Given the description of an element on the screen output the (x, y) to click on. 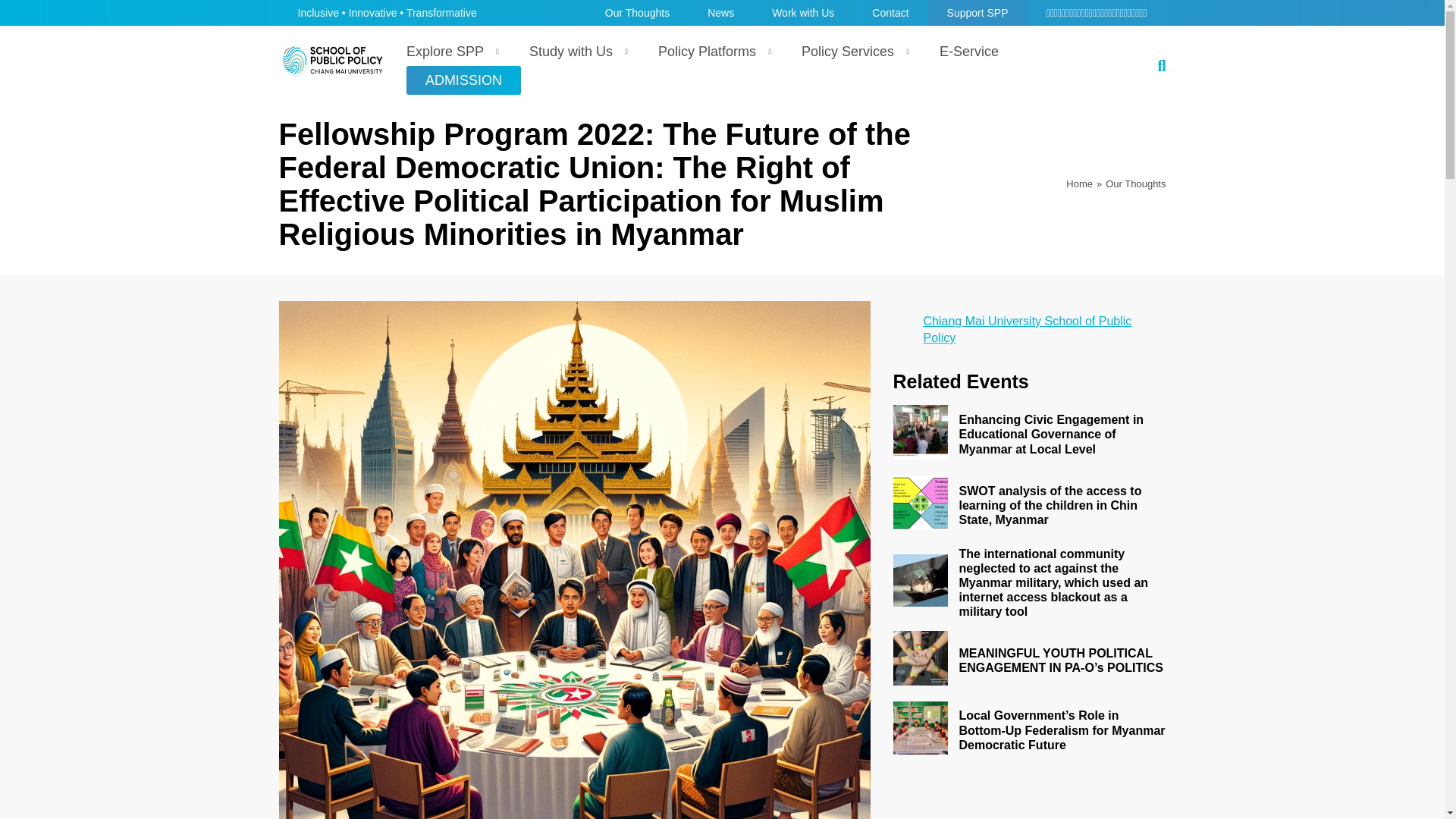
Support SPP (977, 12)
Explore SPP (449, 51)
News (720, 12)
Contact (890, 12)
Work with Us (802, 12)
Our Thoughts (1135, 183)
Home (1079, 183)
Study with Us (575, 51)
Our Thoughts (637, 12)
ADMISSION (463, 80)
